Given the description of an element on the screen output the (x, y) to click on. 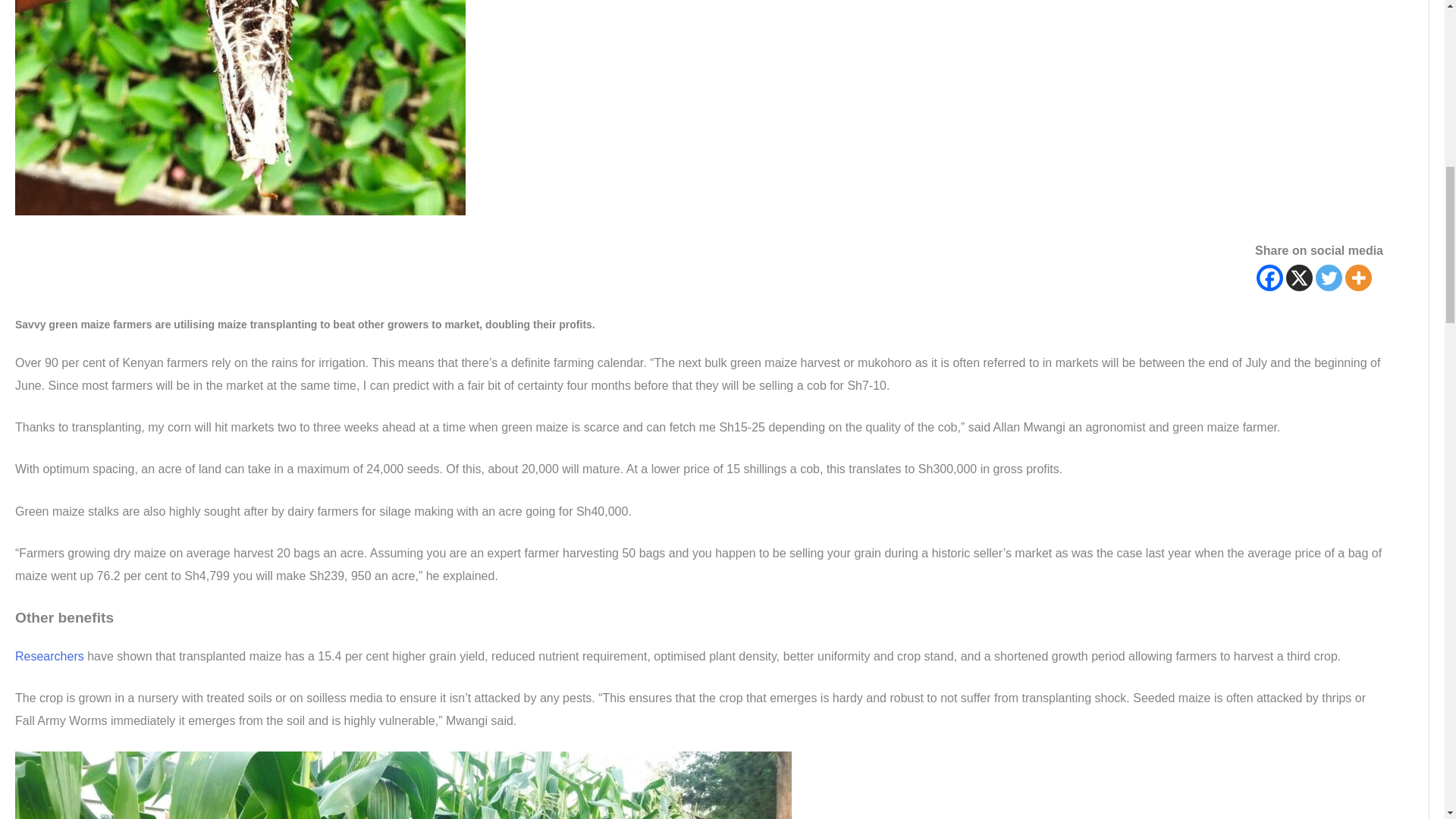
Facebook (1269, 277)
More (1358, 277)
X (1299, 277)
Researchers (50, 656)
Twitter (1329, 277)
